Given the description of an element on the screen output the (x, y) to click on. 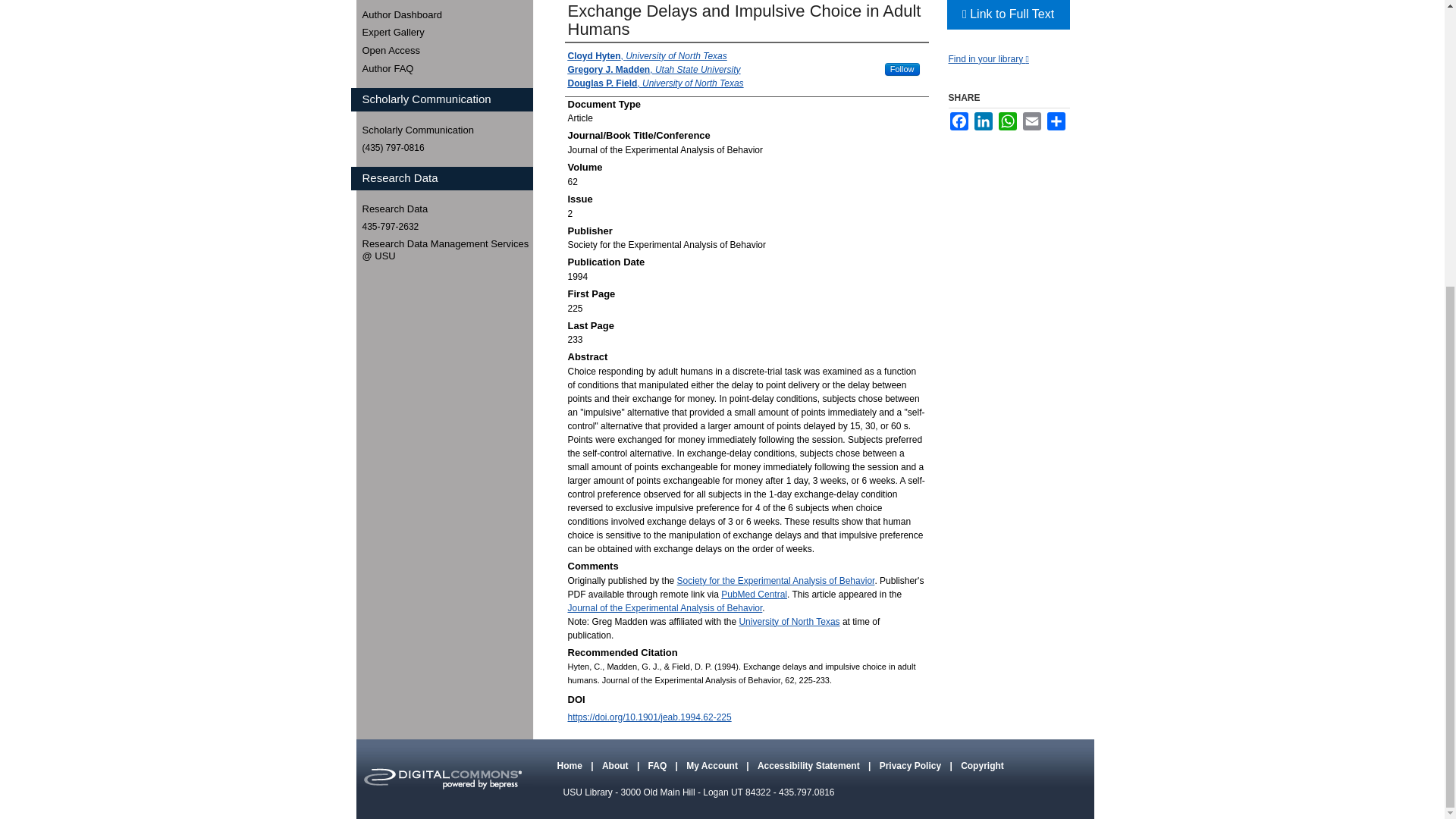
Douglas P. Field, University of North Texas (654, 83)
Follow Gregory J. Madden (902, 69)
Find in your library (987, 59)
Email (1031, 121)
Society for the Experimental Analysis of Behavior (776, 580)
PubMed Central (753, 593)
WhatsApp (1006, 121)
LinkedIn (982, 121)
OpenURL (987, 59)
Share (1055, 121)
Link to Full Text (1007, 14)
Gregory J. Madden, Utah State University (653, 69)
Follow (902, 69)
Journal of the Experimental Analysis of Behavior (664, 607)
Cloyd Hyten, University of North Texas (646, 56)
